Given the description of an element on the screen output the (x, y) to click on. 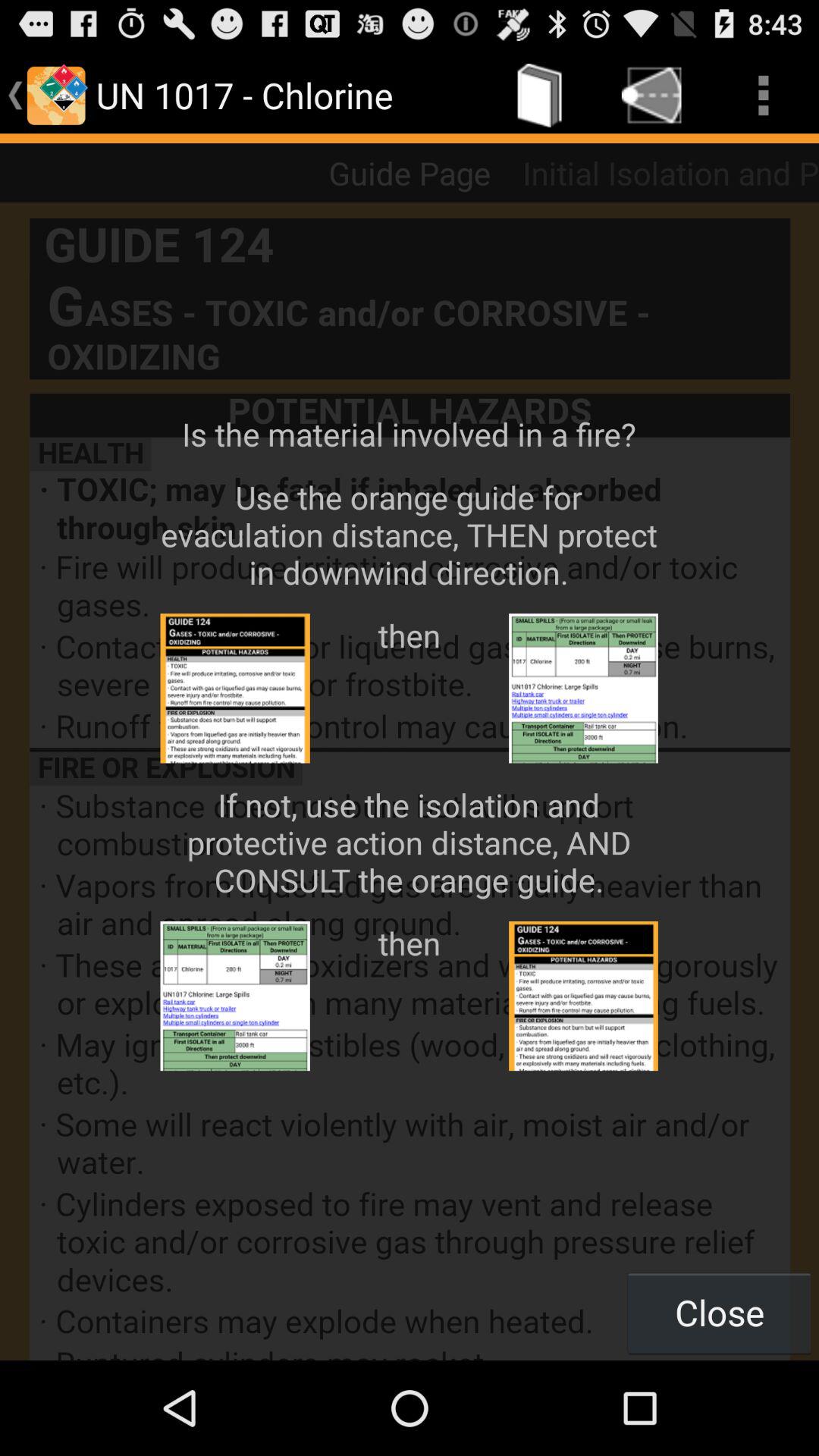
launch the icon below guide page item (409, 781)
